Given the description of an element on the screen output the (x, y) to click on. 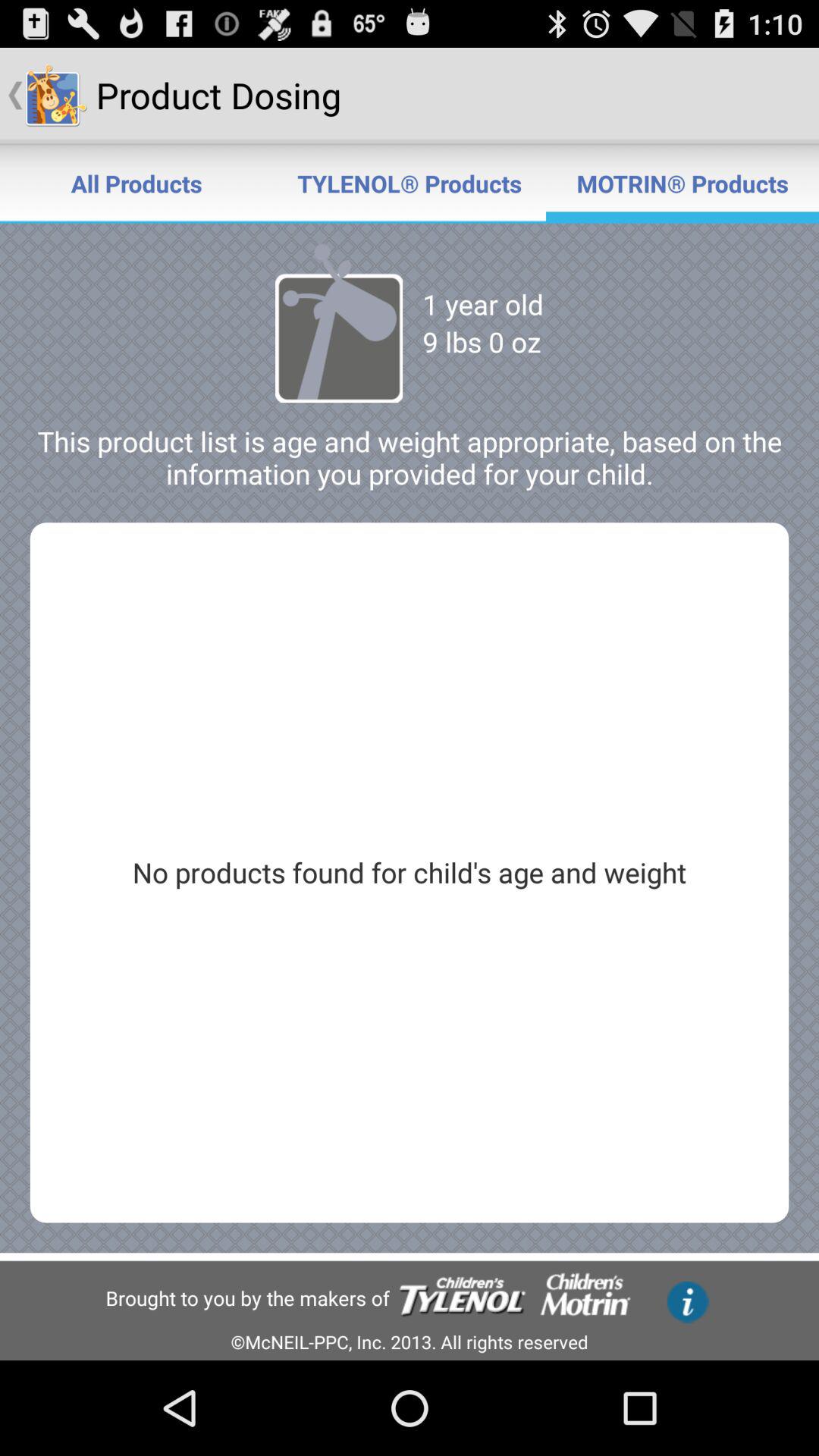
turn off icon to the right of all products icon (409, 183)
